Given the description of an element on the screen output the (x, y) to click on. 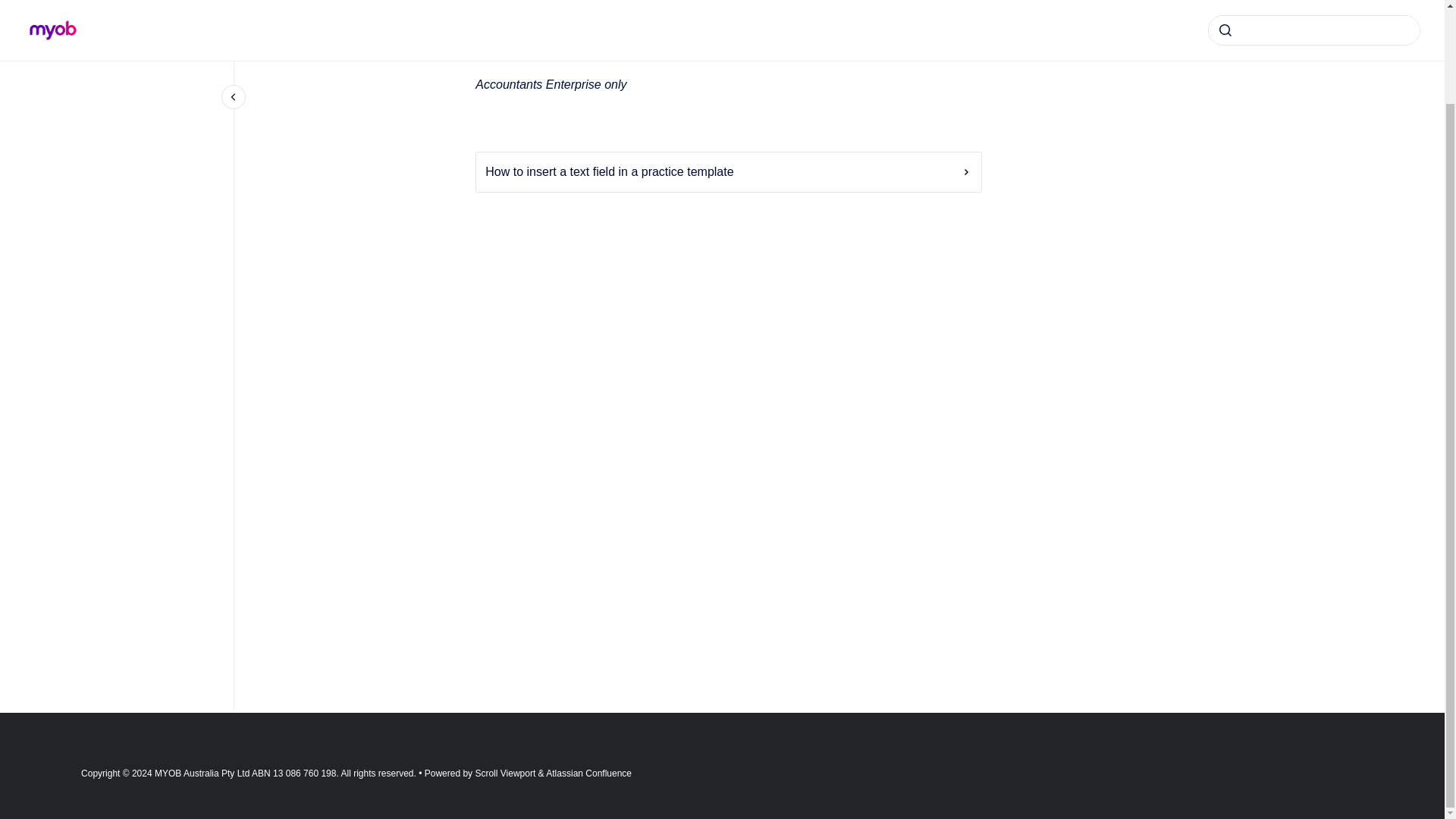
Atlassian Confluence (588, 773)
Scroll Viewport (505, 773)
Customising practice templates (544, 4)
